Given the description of an element on the screen output the (x, y) to click on. 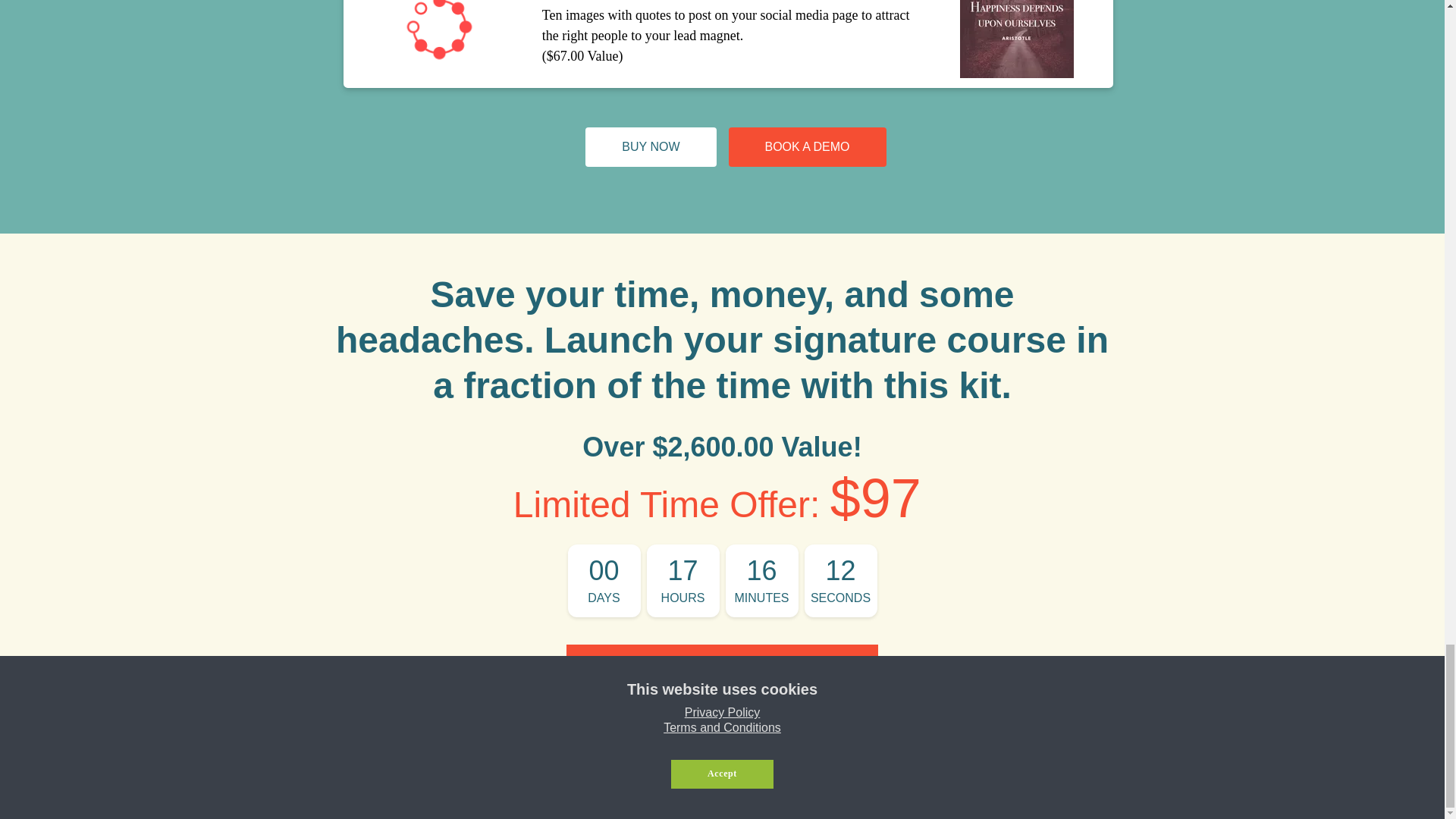
Yes, I'm ready to get started! (722, 669)
BUY NOW (650, 147)
BOOK A DEMO (806, 147)
